Given the description of an element on the screen output the (x, y) to click on. 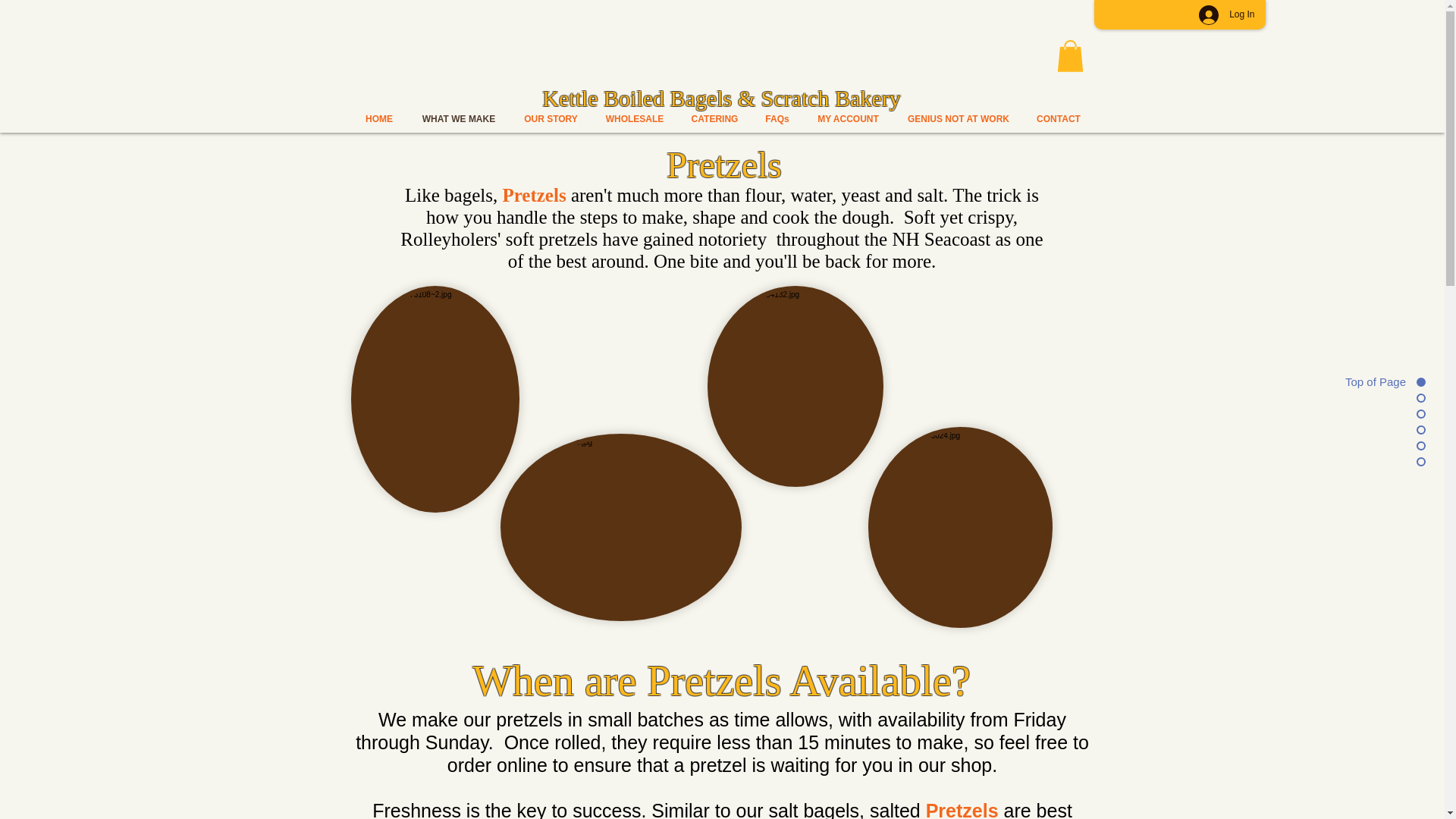
WHOLESALE (634, 119)
HOME (378, 119)
FAQs (777, 119)
GENIUS NOT AT WORK (958, 119)
CATERING (715, 119)
Log In (1226, 14)
WHAT WE MAKE (459, 119)
OUR STORY (550, 119)
CONTACT (1058, 119)
MY ACCOUNT (847, 119)
Top of Page (1368, 381)
